Given the description of an element on the screen output the (x, y) to click on. 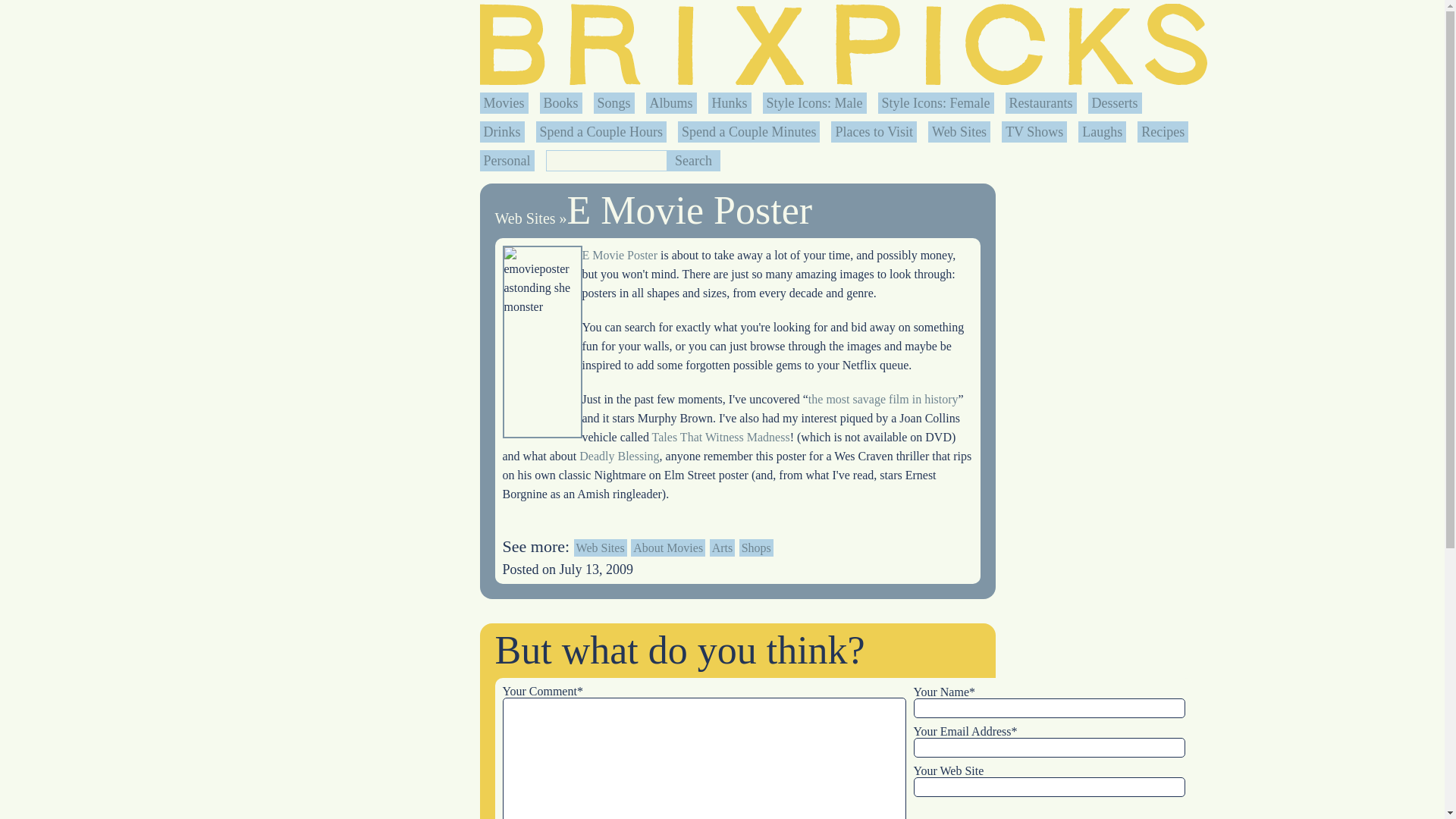
Personal (507, 160)
Recipes (1163, 131)
Places to Visit (873, 131)
Brix Picks - Home (843, 44)
About Movies (667, 547)
Arts (722, 547)
Style Icons: Female (936, 102)
E Movie Poster (689, 210)
Search (693, 160)
Songs (613, 102)
Web Sites (600, 547)
Restaurants (1041, 102)
the most savage film in history (883, 399)
Web Sites (959, 131)
E Movie Poster Tales that Witness Madness (721, 436)
